Given the description of an element on the screen output the (x, y) to click on. 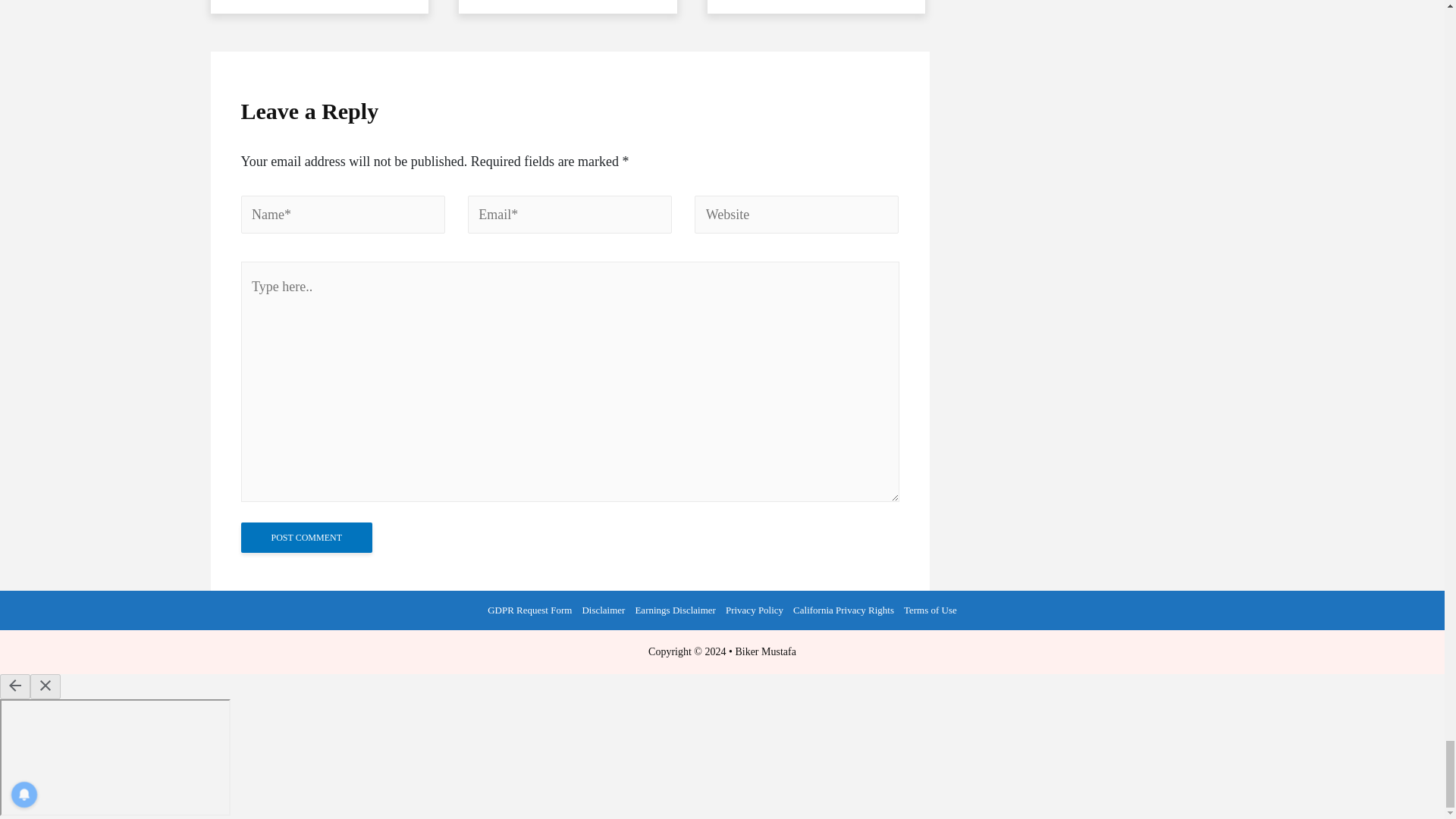
Zontes 350T ADV (816, 6)
Zontes GK350 (567, 6)
Post Comment (306, 537)
